Given the description of an element on the screen output the (x, y) to click on. 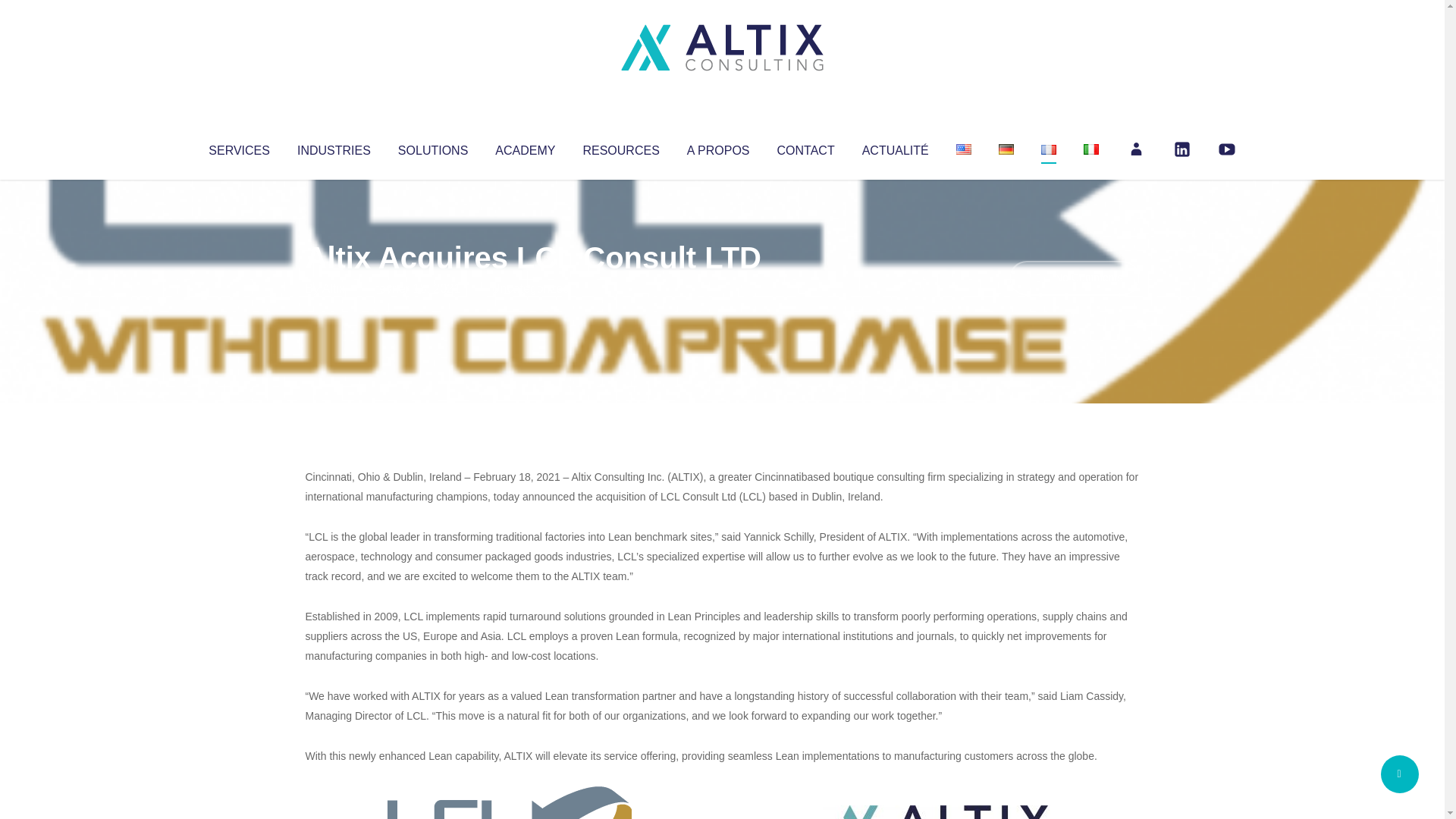
INDUSTRIES (334, 146)
SERVICES (238, 146)
Articles par Altix (333, 287)
Uncategorized (530, 287)
SOLUTIONS (432, 146)
Altix (333, 287)
RESOURCES (620, 146)
A PROPOS (718, 146)
ACADEMY (524, 146)
No Comments (1073, 278)
